Given the description of an element on the screen output the (x, y) to click on. 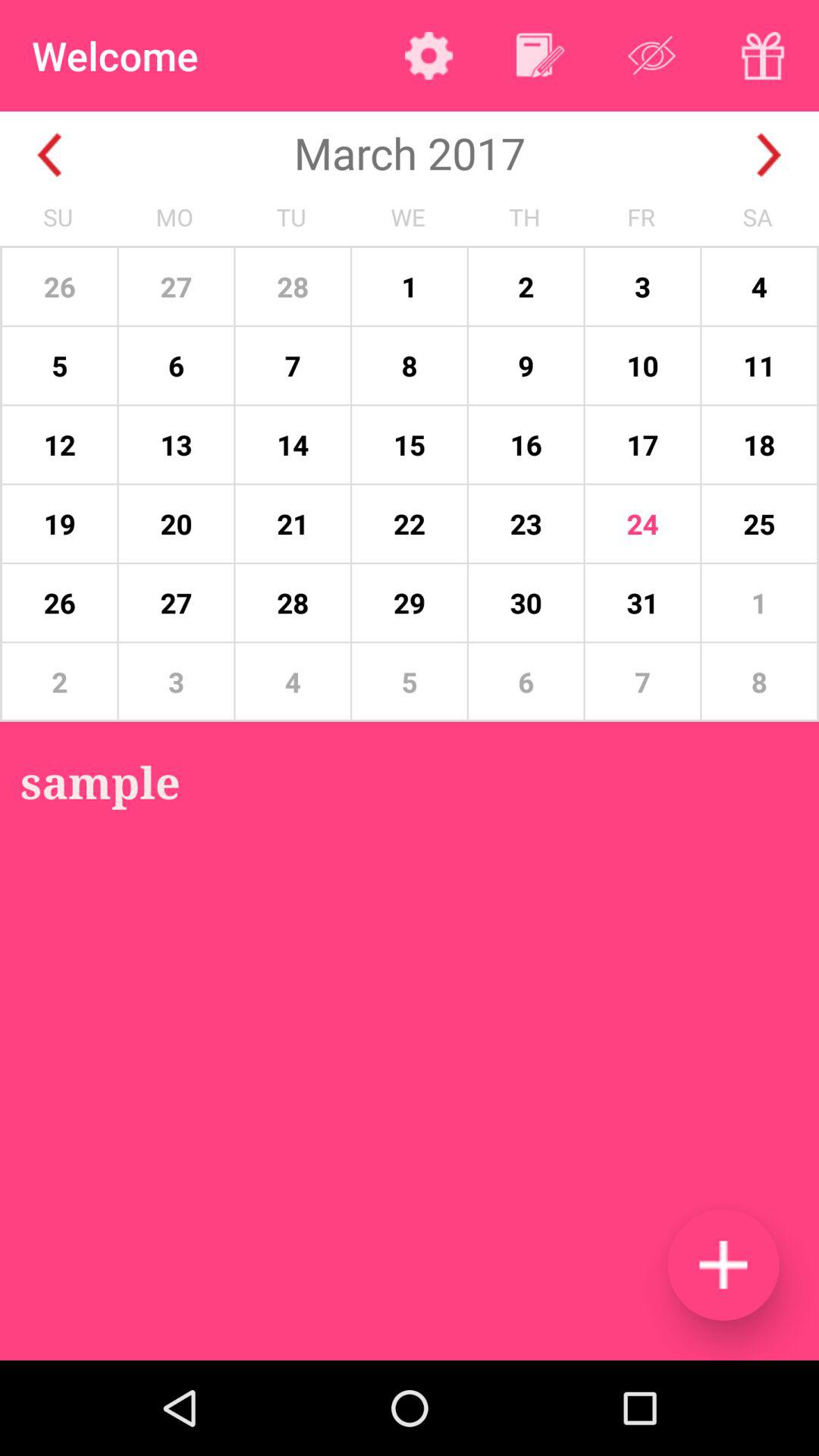
launch the icon below the 2 icon (100, 781)
